Given the description of an element on the screen output the (x, y) to click on. 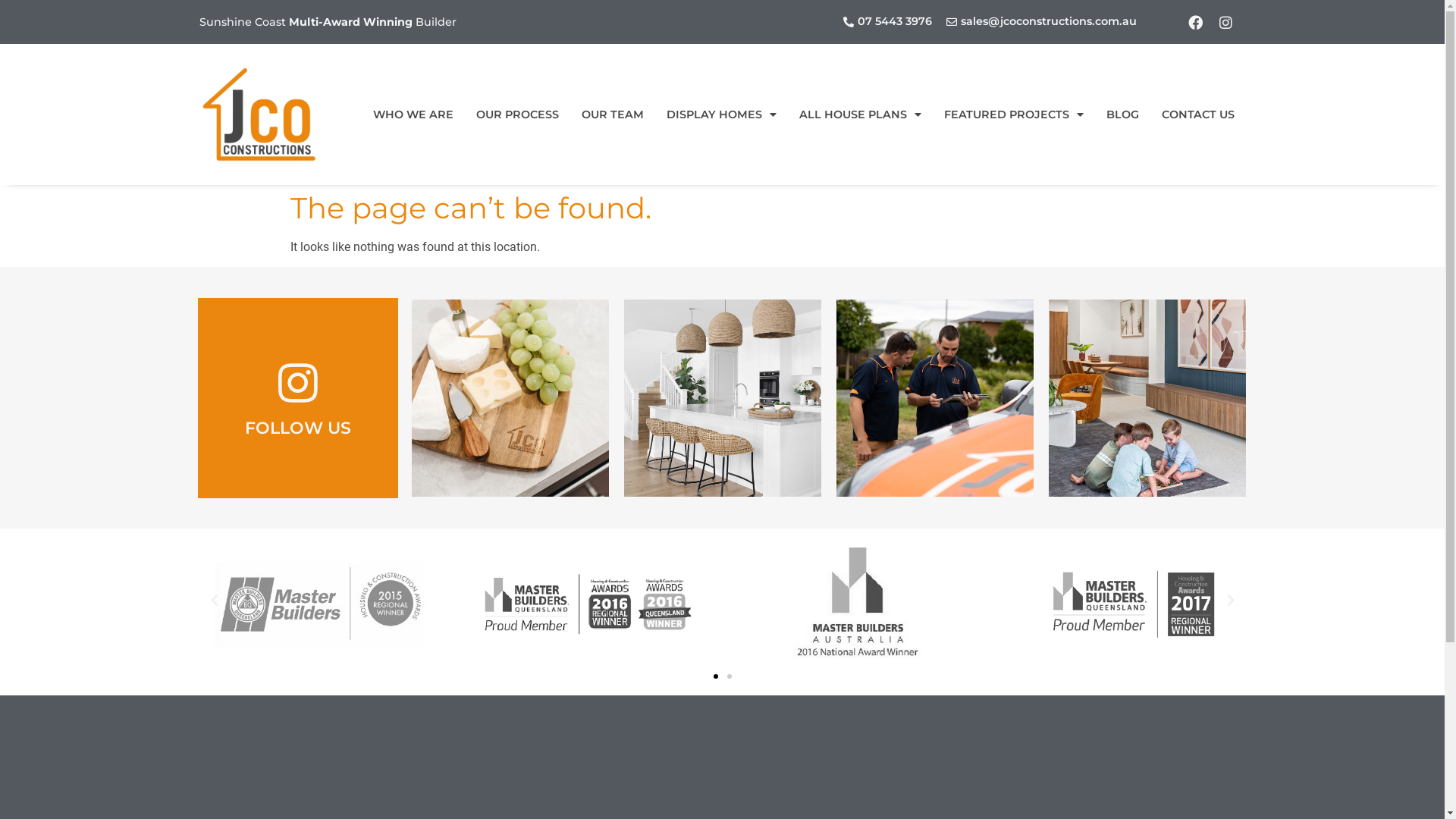
FEATURED PROJECTS Element type: text (1013, 114)
WHO WE ARE Element type: text (412, 114)
OUR TEAM Element type: text (612, 114)
sales@jcoconstructions.com.au Element type: text (1040, 21)
JCO Constructions logo Element type: hover (259, 114)
ALL HOUSE PLANS Element type: text (859, 114)
BLOG Element type: text (1122, 114)
CONTACT US Element type: text (1197, 114)
DISPLAY HOMES Element type: text (721, 114)
OUR PROCESS Element type: text (516, 114)
07 5443 3976 Element type: text (885, 21)
